Given the description of an element on the screen output the (x, y) to click on. 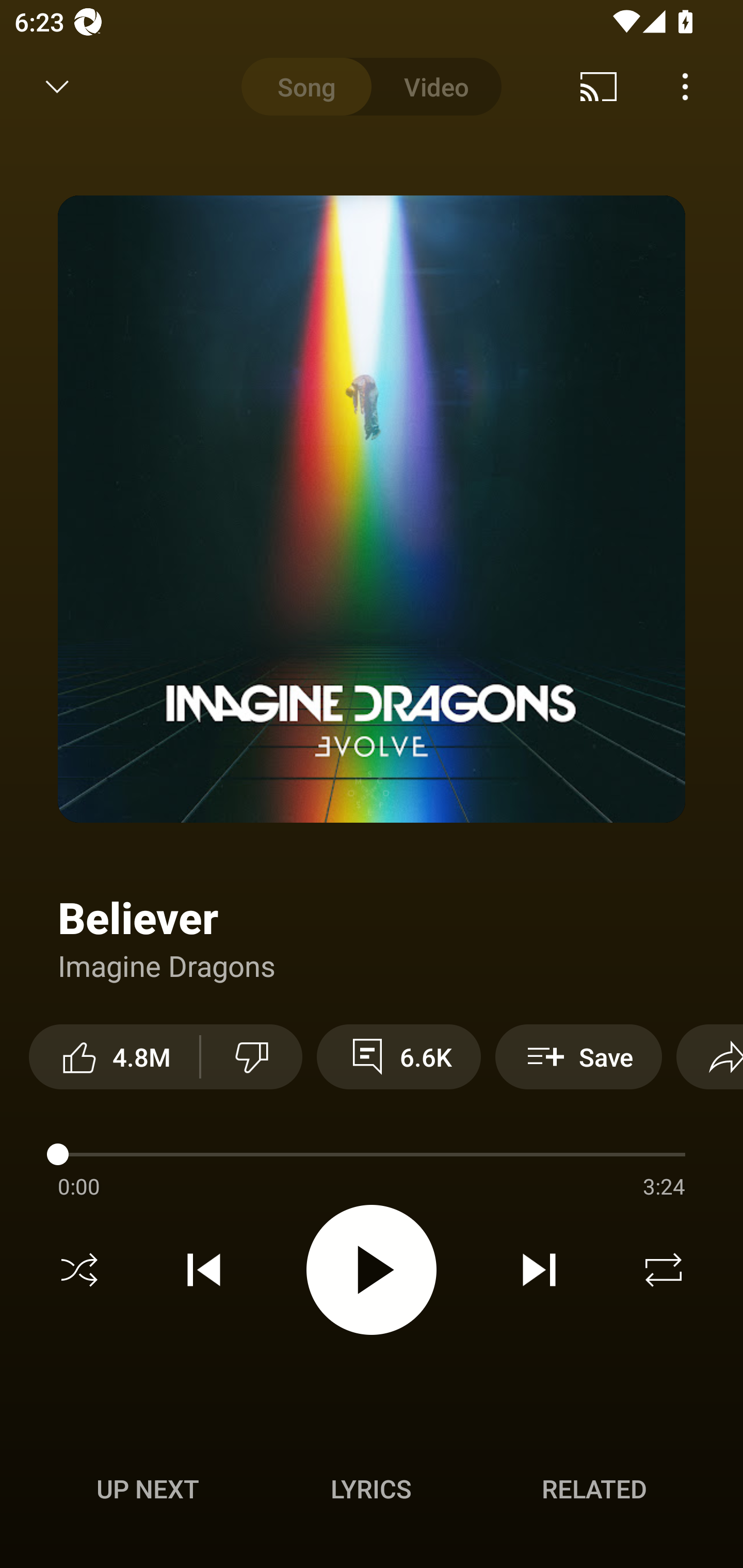
Minimize (57, 86)
Cast. Disconnected (598, 86)
Menu (684, 86)
Dislike (251, 1056)
6.6K View 6,696 comments (398, 1056)
Save Save to playlist (578, 1056)
Share (709, 1056)
Play video (371, 1269)
Shuffle off (79, 1269)
Previous track (203, 1269)
Next track (538, 1269)
Repeat off (663, 1269)
Up next UP NEXT Lyrics LYRICS Related RELATED (371, 1491)
Lyrics LYRICS (370, 1488)
Related RELATED (594, 1488)
